Given the description of an element on the screen output the (x, y) to click on. 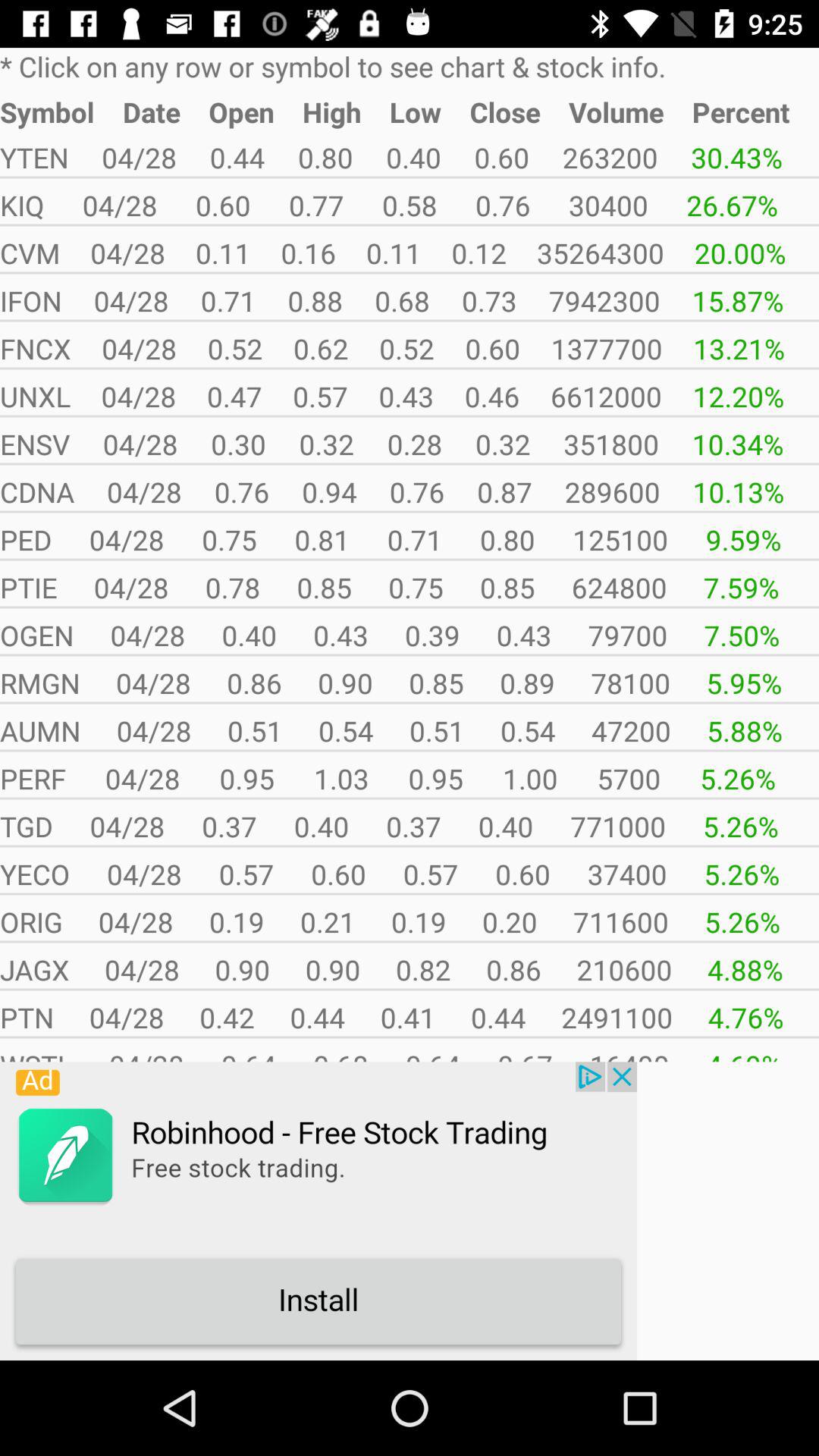
advertisement banner (318, 1210)
